Given the description of an element on the screen output the (x, y) to click on. 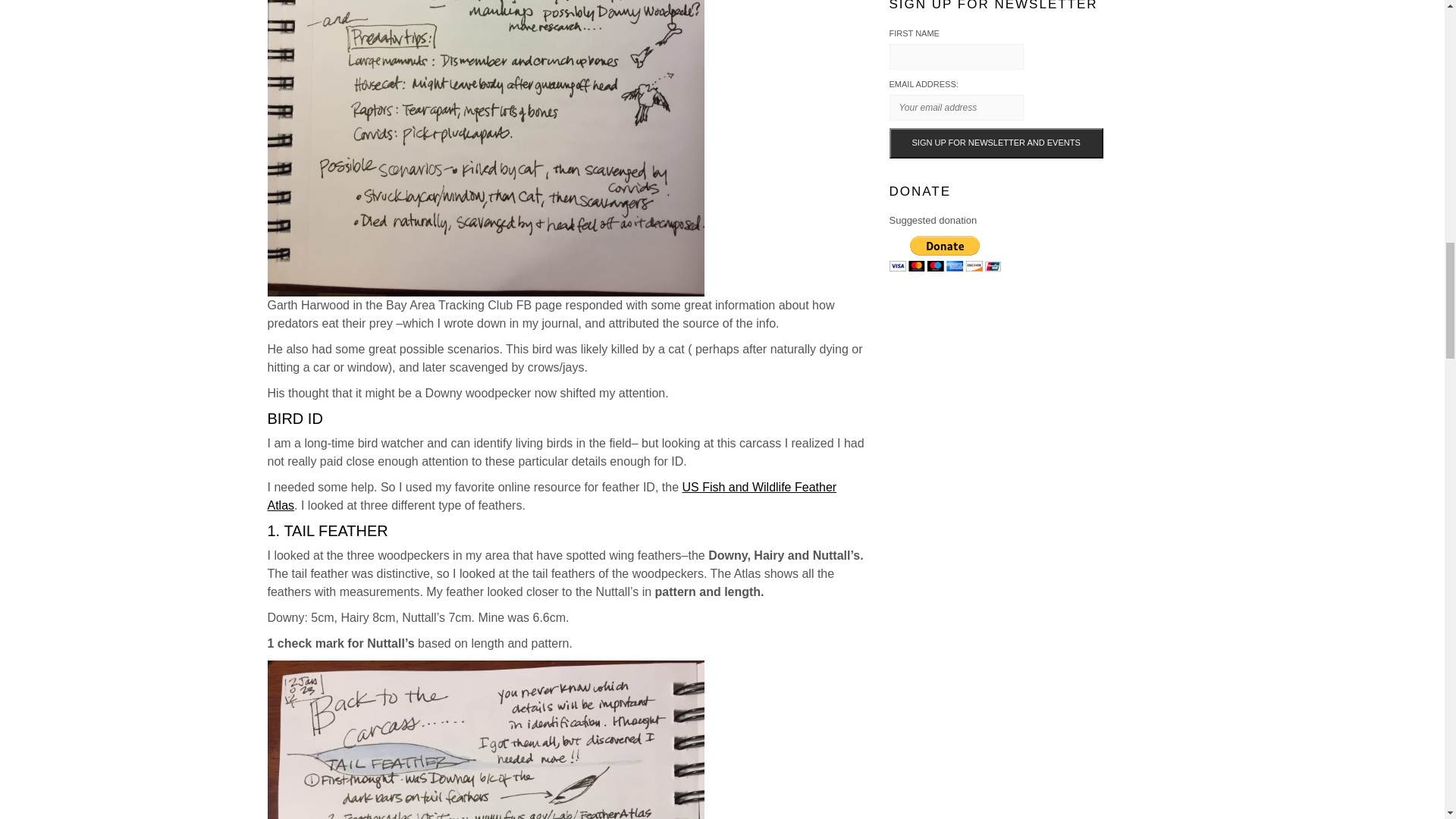
Sign up for newsletter and events (995, 142)
US Fish and Wildlife Feather Atlas (550, 495)
